Given the description of an element on the screen output the (x, y) to click on. 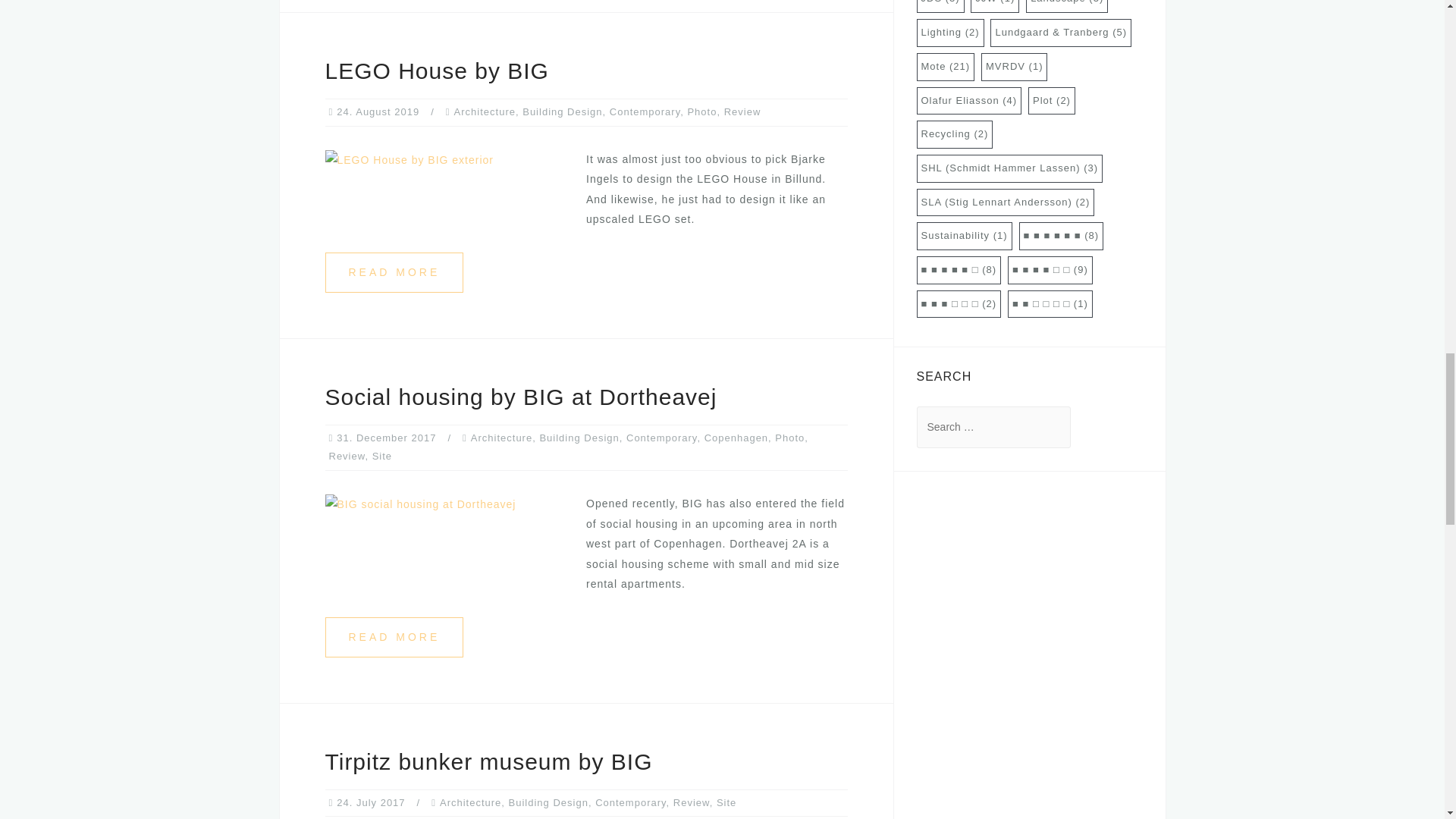
LEGO House by BIG (408, 159)
Social housing by BIG at Dortheavej (393, 637)
Social housing by BIG at Dortheavej (419, 503)
LEGO House by BIG (393, 272)
